Given the description of an element on the screen output the (x, y) to click on. 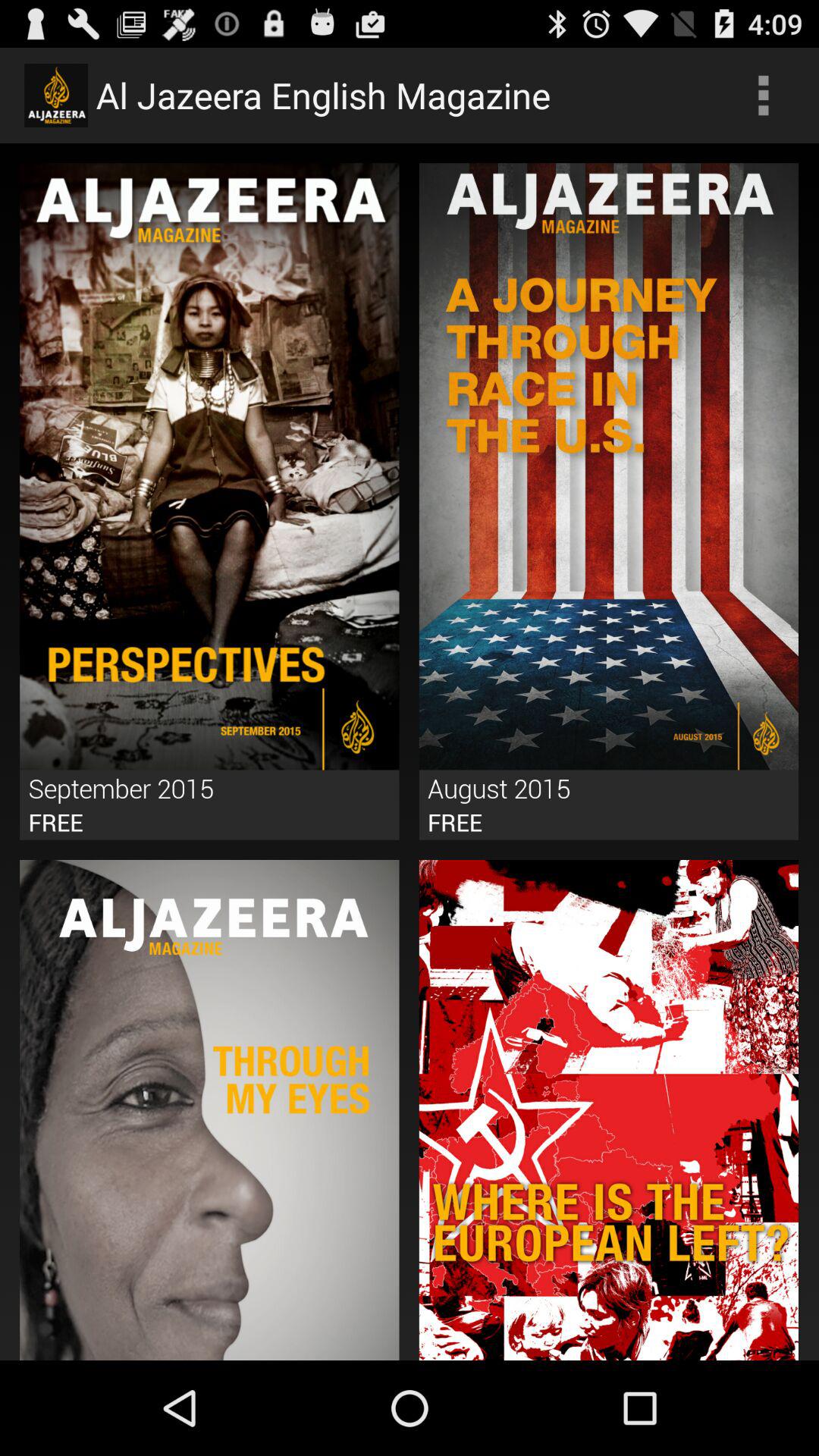
choose app next to al jazeera english item (763, 95)
